Given the description of an element on the screen output the (x, y) to click on. 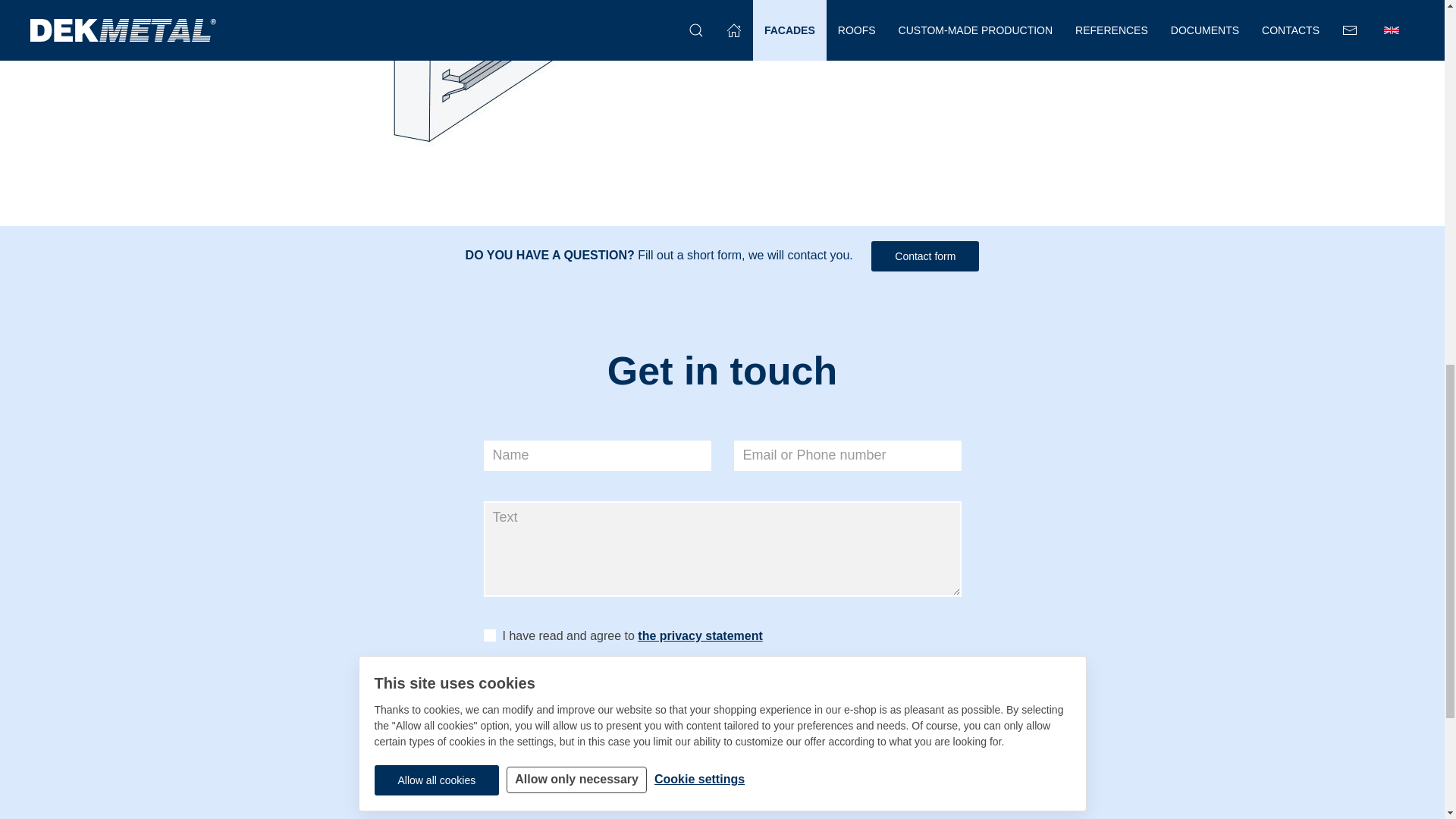
on (489, 635)
